Given the description of an element on the screen output the (x, y) to click on. 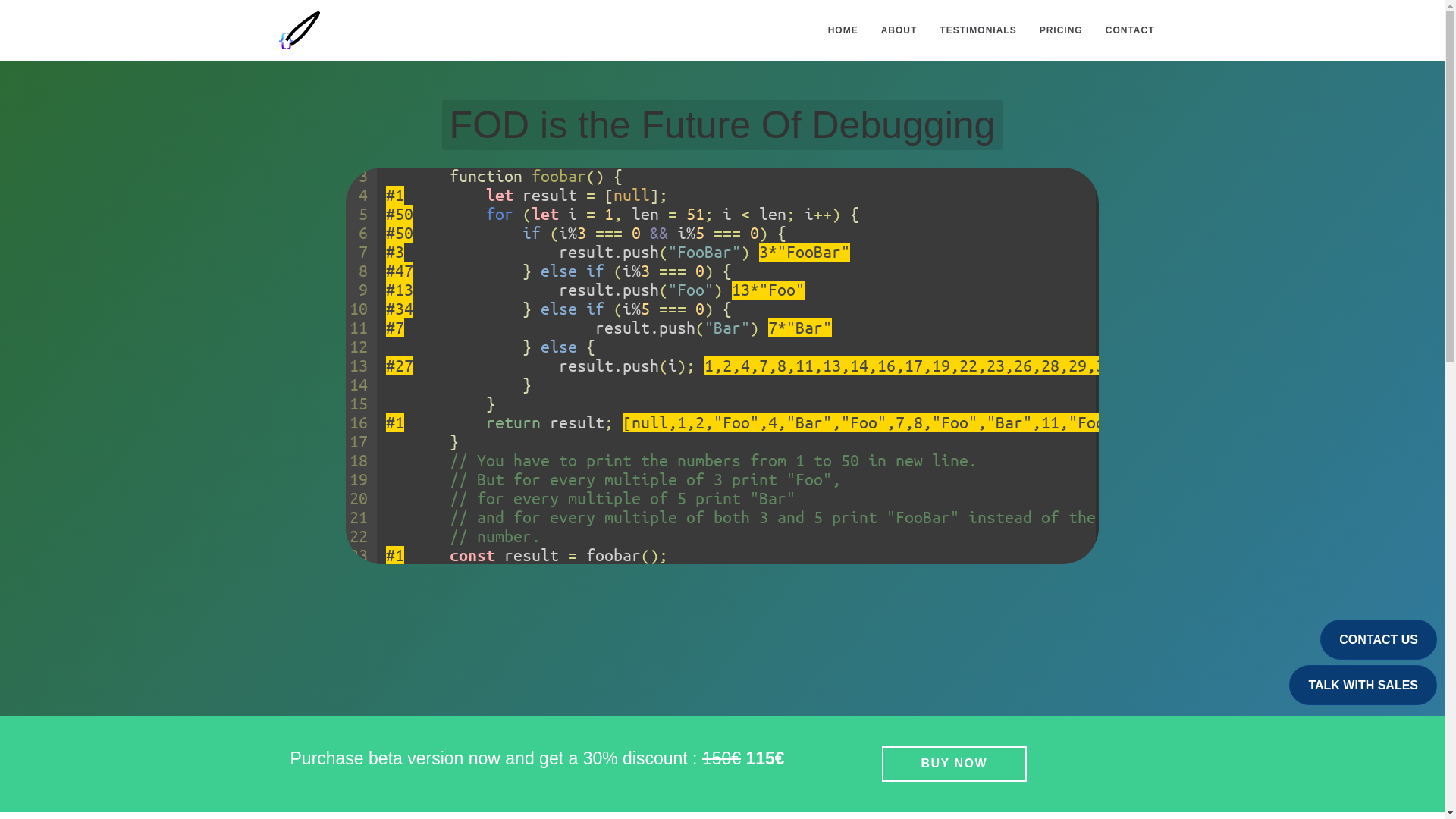
TALK WITH SALES (1362, 685)
BUY NOW (953, 764)
CONTACT (1130, 30)
ABOUT (898, 30)
ABOUT (898, 30)
TESTIMONIALS (977, 30)
CONTACT US (1378, 639)
PRICING (1060, 30)
CONTACT (1130, 30)
HOME (842, 30)
HOME (842, 30)
PRICING (1060, 30)
TESTIMONIALS (977, 30)
